Given the description of an element on the screen output the (x, y) to click on. 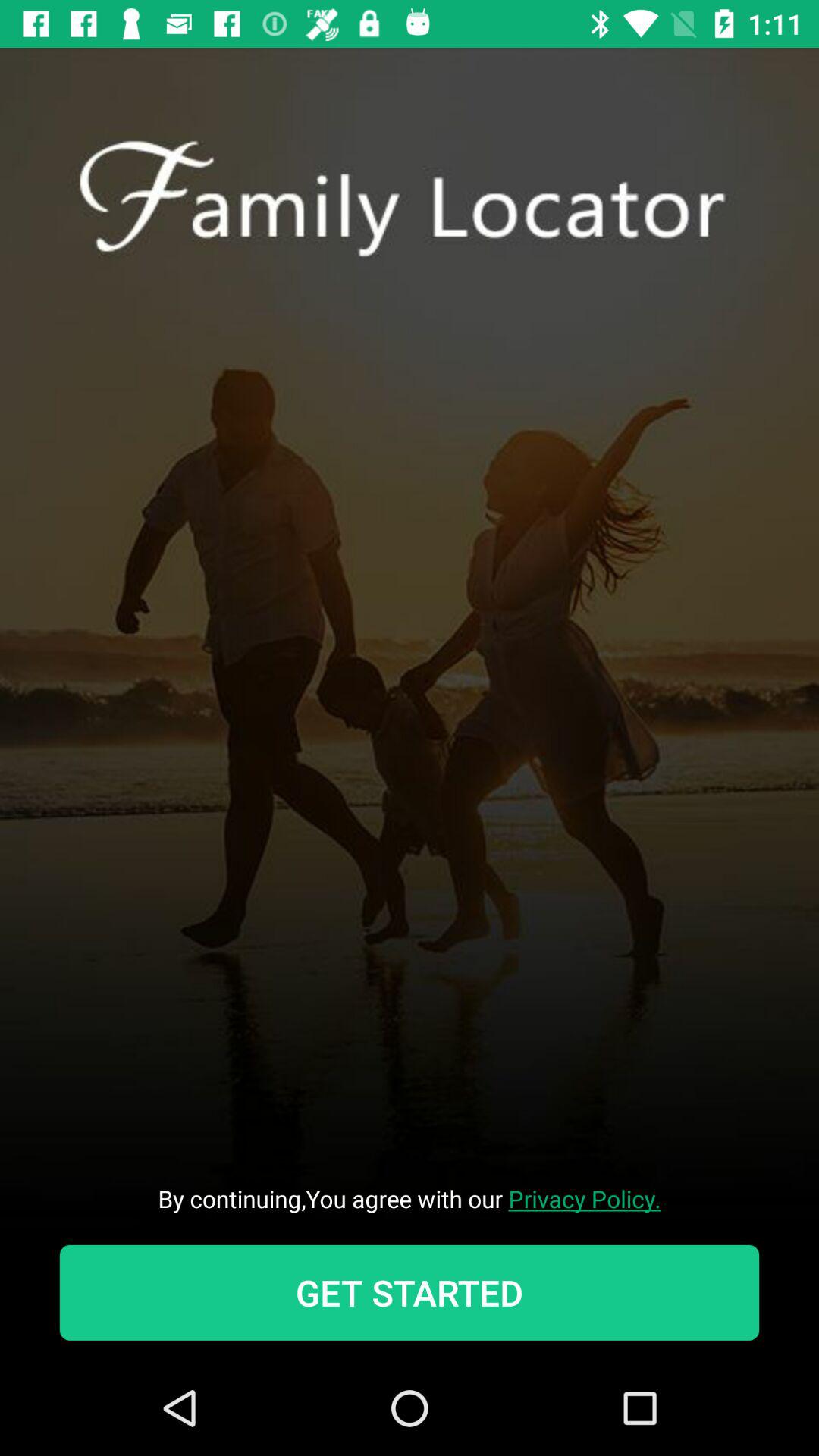
tap by continuing you (409, 1198)
